Given the description of an element on the screen output the (x, y) to click on. 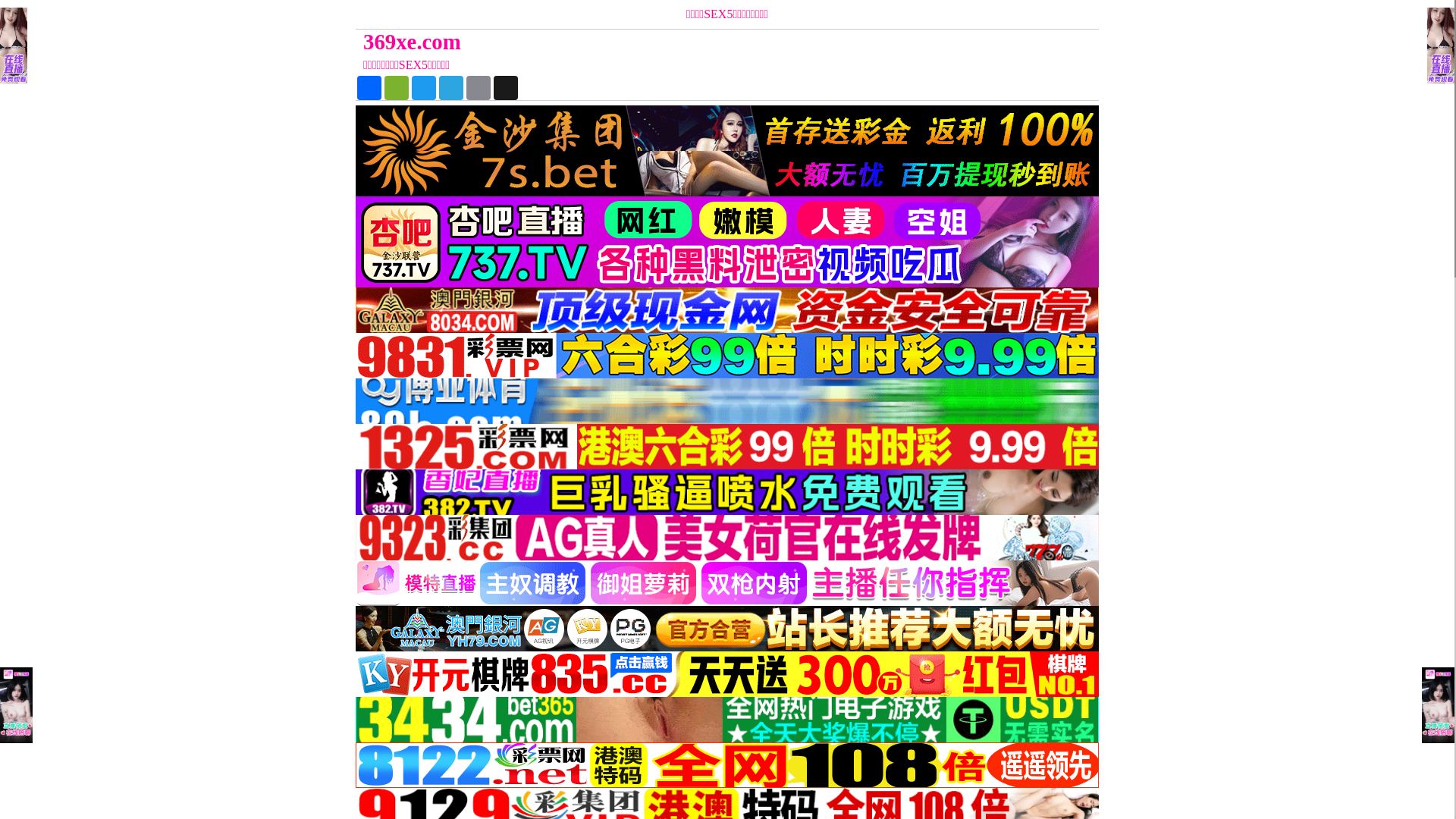
X Element type: text (505, 87)
Telegram Element type: text (450, 87)
Copy Link Element type: text (478, 87)
WeChat Element type: text (396, 87)
Twitter Element type: text (423, 87)
369xe.com Element type: text (634, 41)
